Given the description of an element on the screen output the (x, y) to click on. 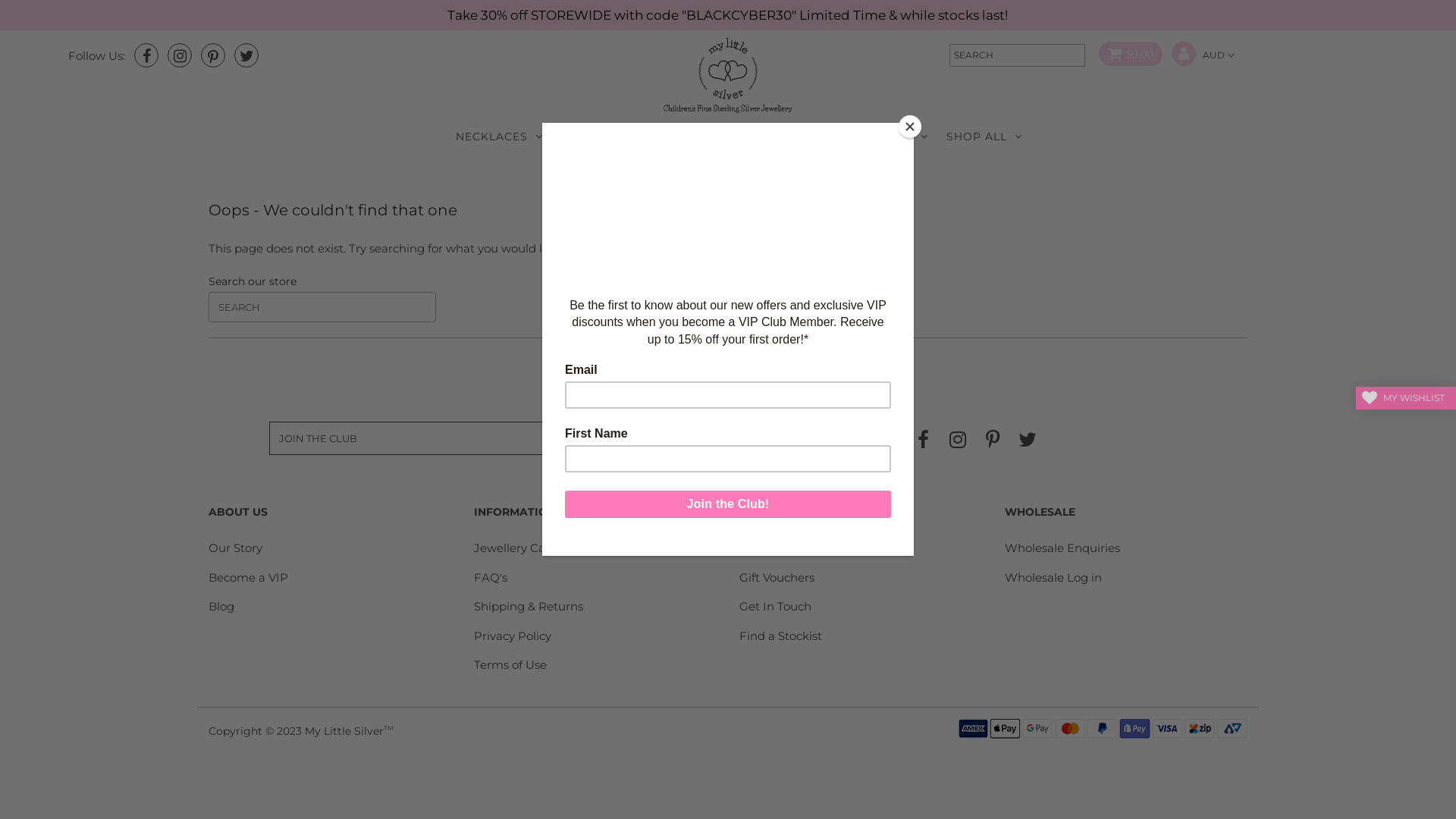
Jewellery Care Element type: text (514, 547)
Wholesale Enquiries Element type: text (1062, 547)
My Little Silver Element type: text (343, 730)
Privacy Policy Element type: text (512, 635)
Terms of Use Element type: text (509, 664)
NECKLACES Element type: text (499, 136)
CHARMS Element type: text (794, 136)
Get In Touch Element type: text (775, 606)
Our Story Element type: text (235, 547)
Gift Vouchers Element type: text (776, 577)
EARRINGS Element type: text (599, 136)
Our Tween & Teen Gift Guide! Element type: text (822, 547)
BRACELETS Element type: text (699, 136)
Join Element type: text (621, 438)
Wholesale Log in Element type: text (1052, 577)
Blog Element type: text (221, 606)
SHOP ALL Element type: text (983, 136)
PENDANTS Element type: text (886, 136)
Become a VIP Element type: text (248, 577)
Find a Stockist Element type: text (780, 635)
HOME Element type: text (681, 176)
Shipping & Returns Element type: text (528, 606)
  $0.00 Element type: text (1125, 54)
FAQ's Element type: text (490, 577)
